Given the description of an element on the screen output the (x, y) to click on. 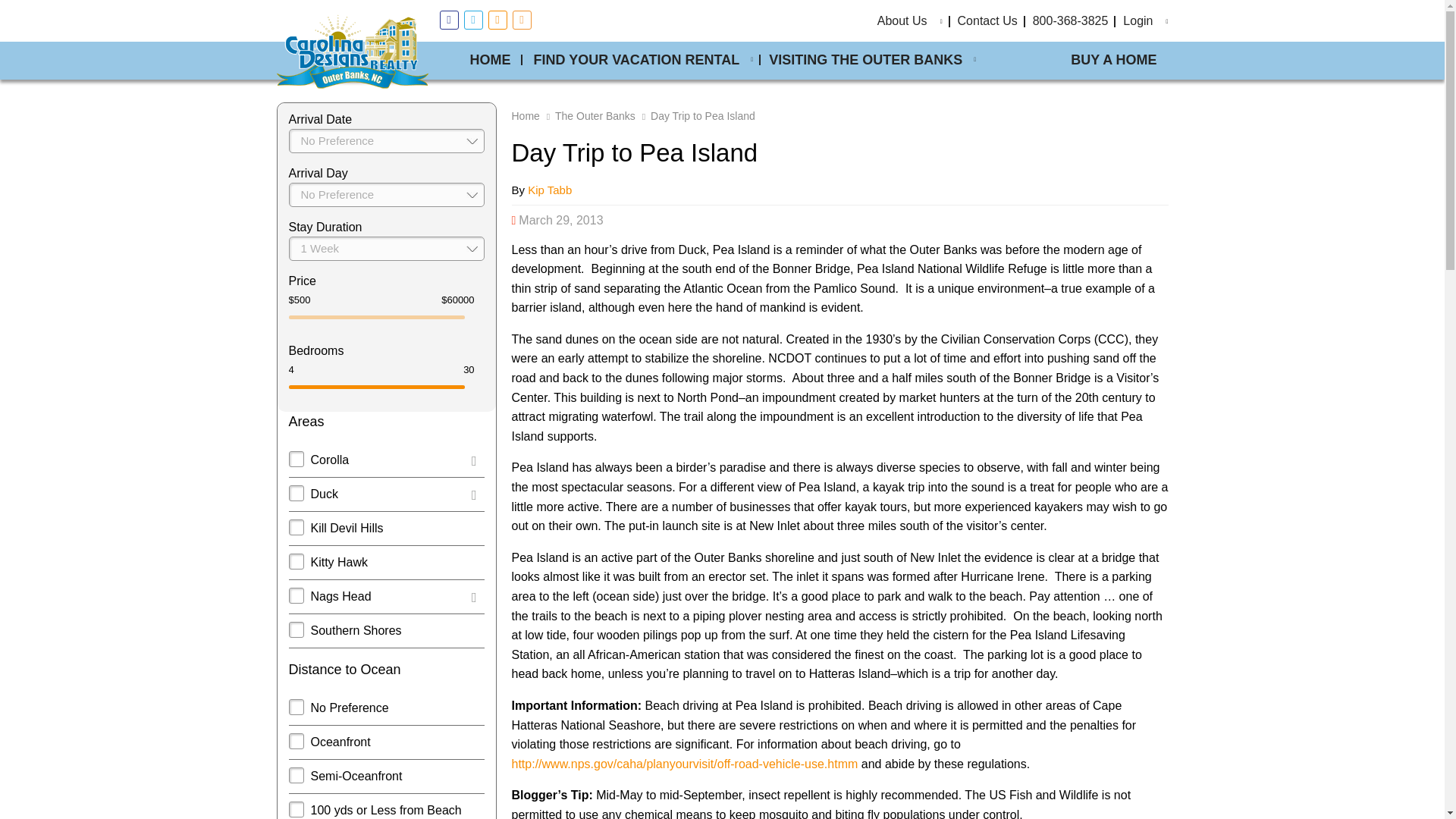
Login (1137, 20)
Contact Us (987, 20)
800-368-3825 (1070, 20)
4 (334, 369)
HOME (489, 60)
About Us (901, 20)
FIND YOUR VACATION RENTAL (639, 60)
30 (427, 369)
